Given the description of an element on the screen output the (x, y) to click on. 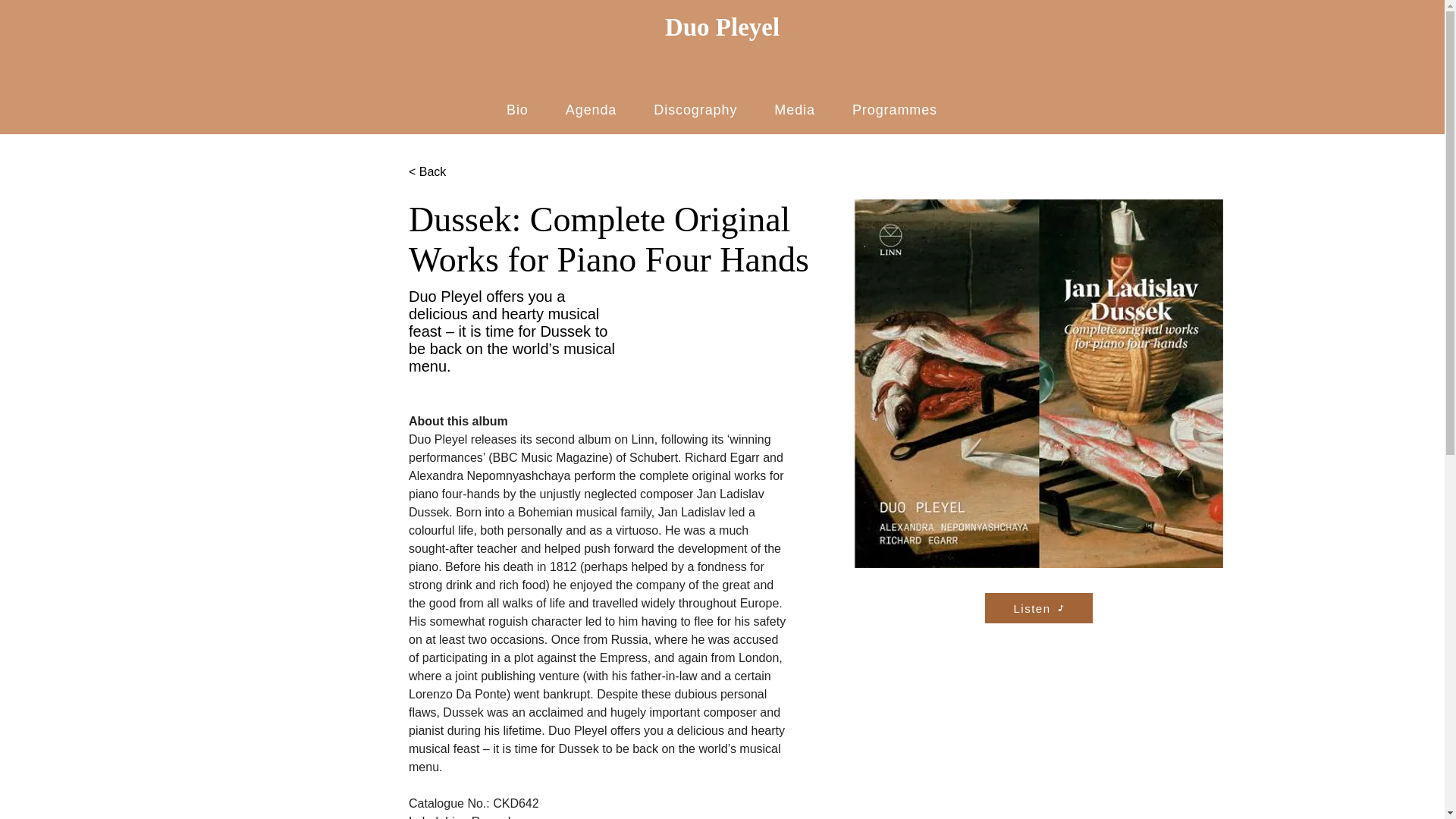
Programmes (893, 110)
Discography (695, 110)
Agenda (590, 110)
Media (794, 110)
Bio (518, 110)
Listen (1039, 607)
Duo Pleyel (721, 26)
